Given the description of an element on the screen output the (x, y) to click on. 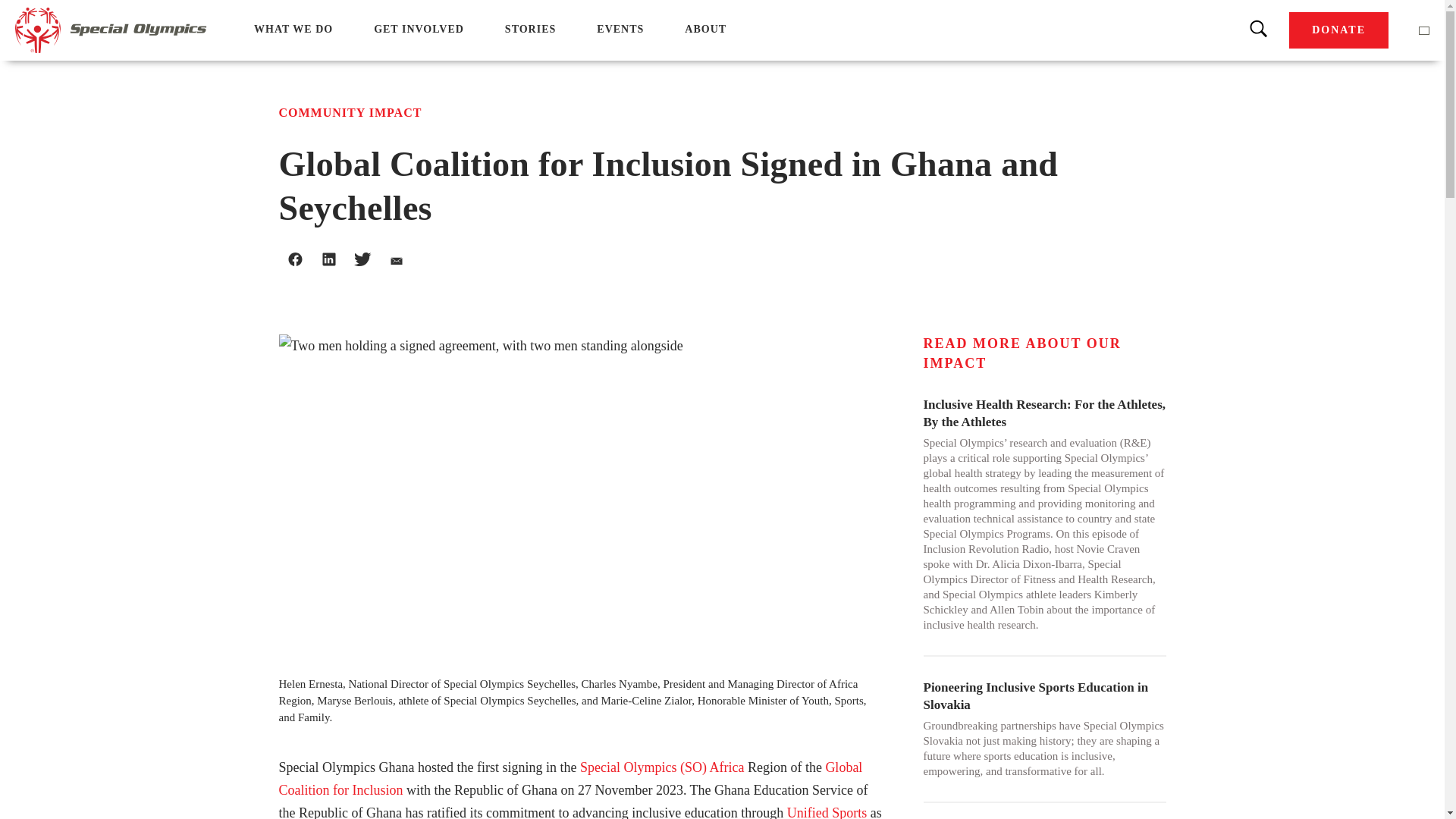
GET INVOLVED (419, 29)
EVENTS (619, 29)
STORIES (530, 29)
WHAT WE DO (293, 29)
